Given the description of an element on the screen output the (x, y) to click on. 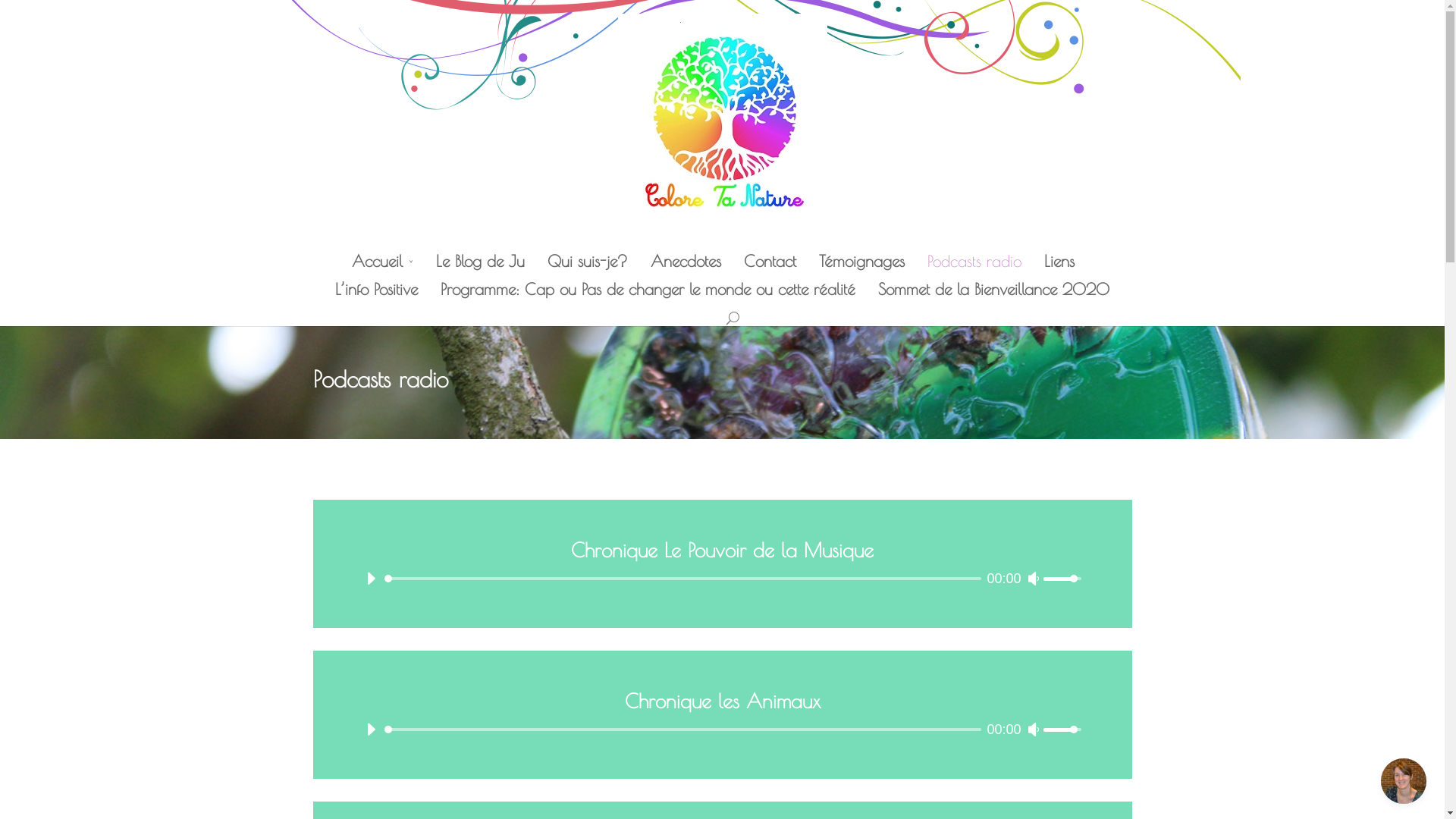
Couper le son Element type: hover (1034, 583)
Qui suis-je? Element type: text (587, 266)
Sommet de la Bienveillance 2020 Element type: text (993, 294)
Accueil Element type: text (382, 266)
Podcasts radio Element type: text (973, 266)
Couper le son Element type: hover (1034, 734)
Play Element type: hover (368, 734)
Anecdotes Element type: text (685, 266)
Contact Element type: text (769, 266)
Liens Element type: text (1058, 266)
Le Blog de Ju Element type: text (479, 266)
Play Element type: hover (368, 583)
